Given the description of an element on the screen output the (x, y) to click on. 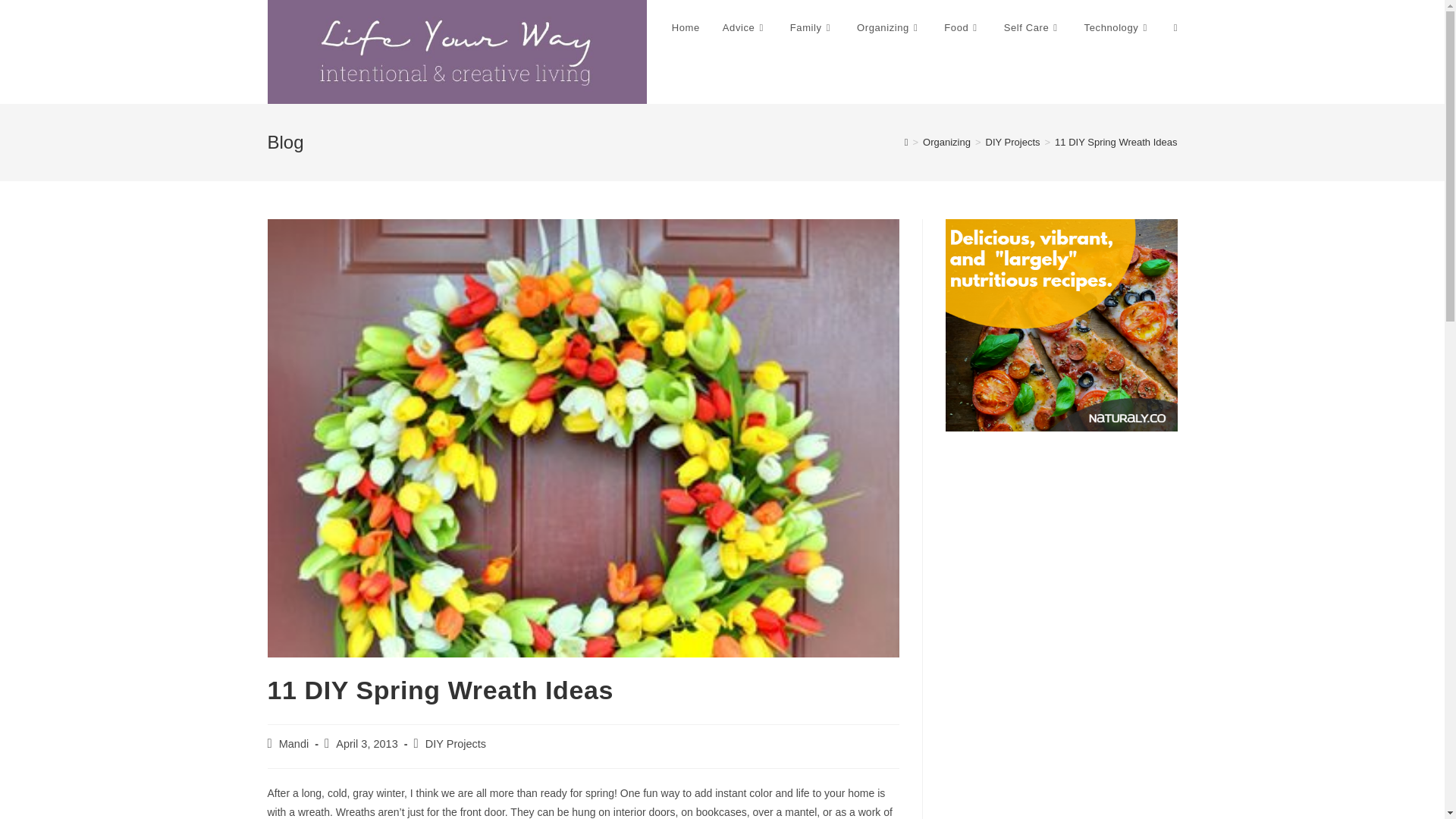
Organizing (889, 28)
Advice (744, 28)
Posts by Mandi (293, 743)
Family (811, 28)
Home (686, 28)
